Given the description of an element on the screen output the (x, y) to click on. 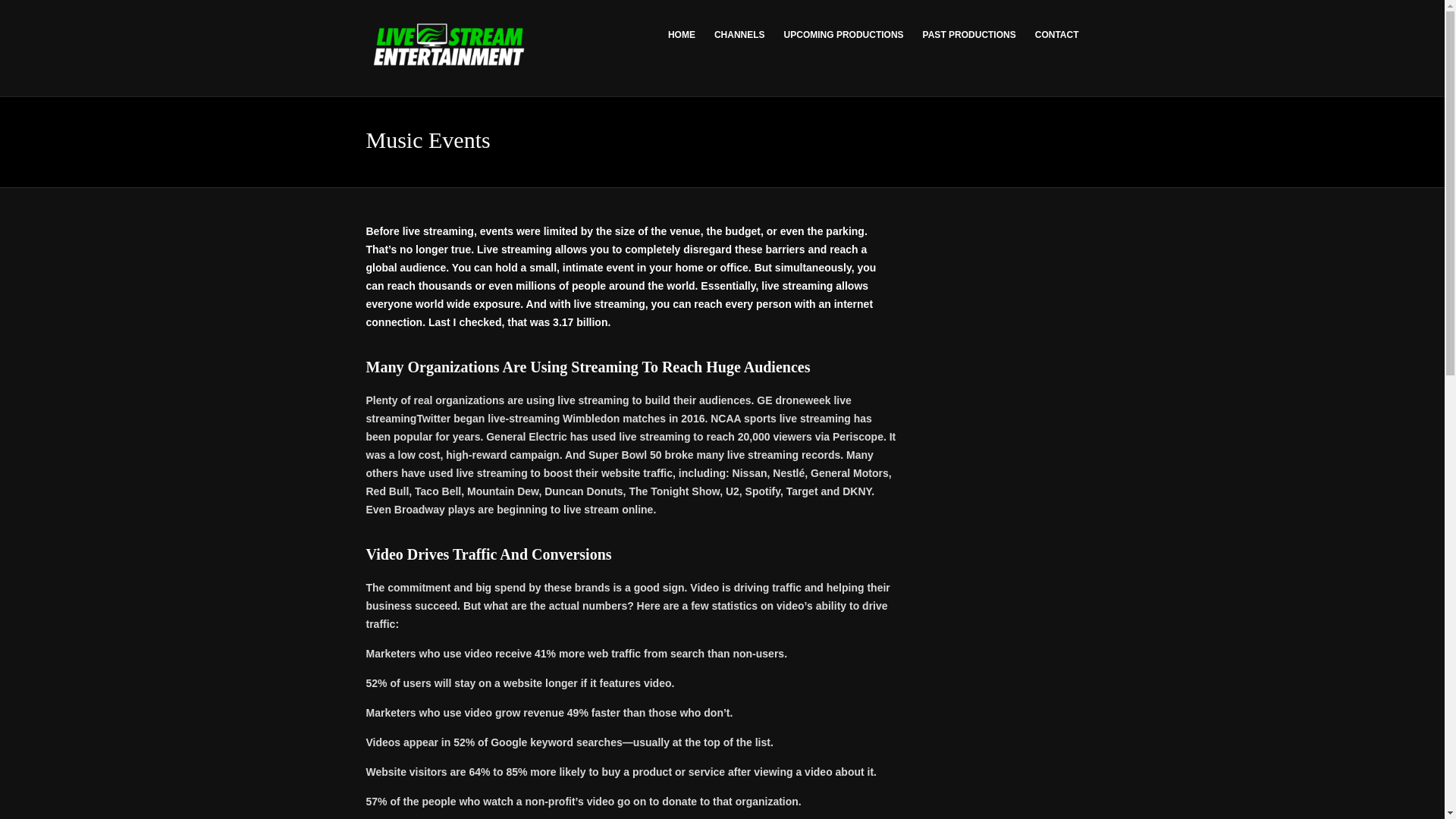
PAST PRODUCTIONS (971, 34)
CONTACT (1052, 34)
HOME (683, 34)
CHANNELS (741, 34)
UPCOMING PRODUCTIONS (845, 34)
